Given the description of an element on the screen output the (x, y) to click on. 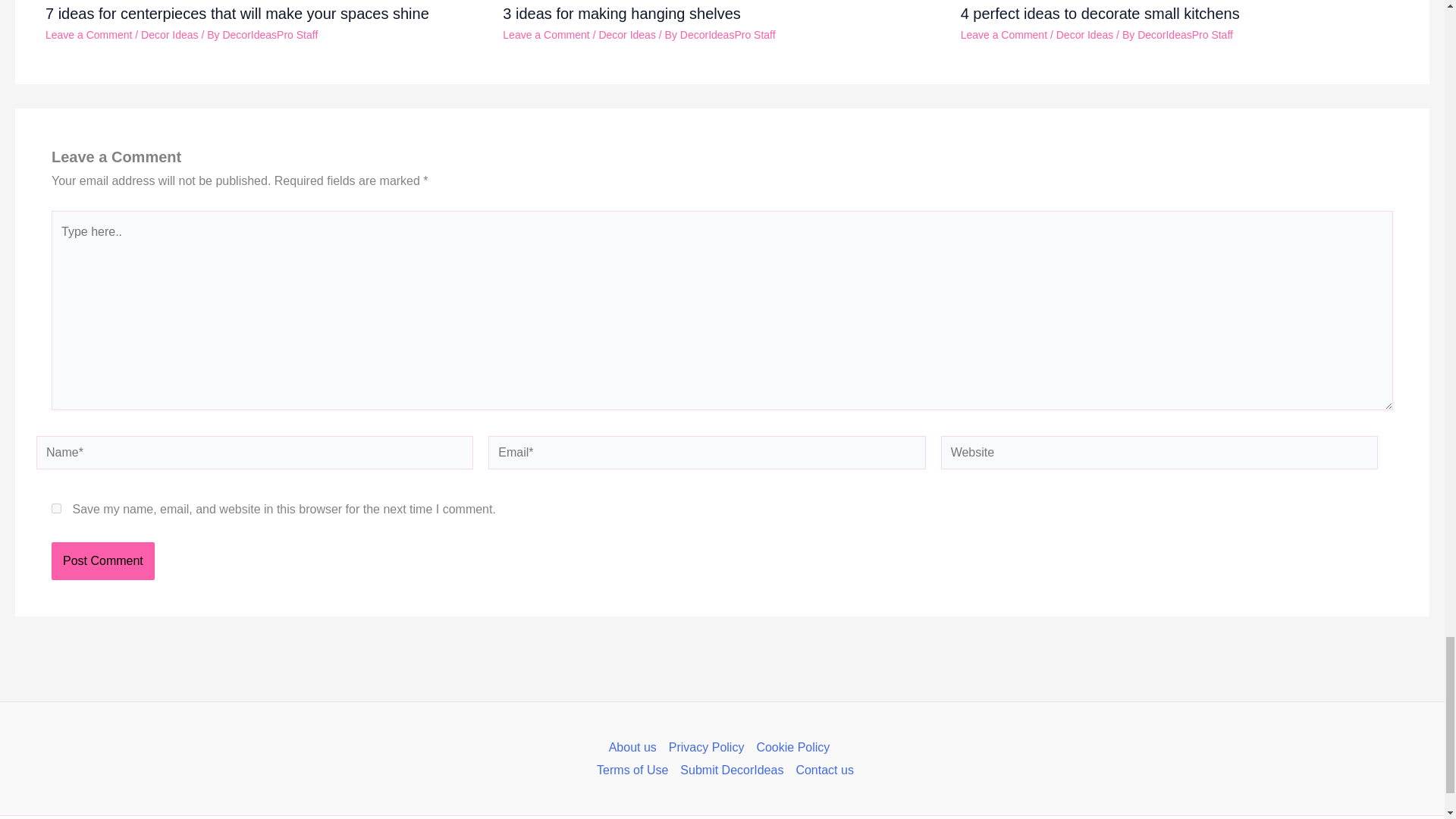
Post Comment (102, 560)
yes (55, 508)
DecorIdeasPro Staff (269, 34)
Leave a Comment (545, 34)
View all posts by DecorIdeasPro Staff (1185, 34)
4 perfect ideas to decorate small kitchens (1100, 13)
Leave a Comment (88, 34)
7 ideas for centerpieces that will make your spaces shine (237, 13)
View all posts by DecorIdeasPro Staff (727, 34)
DecorIdeasPro Staff (727, 34)
